Given the description of an element on the screen output the (x, y) to click on. 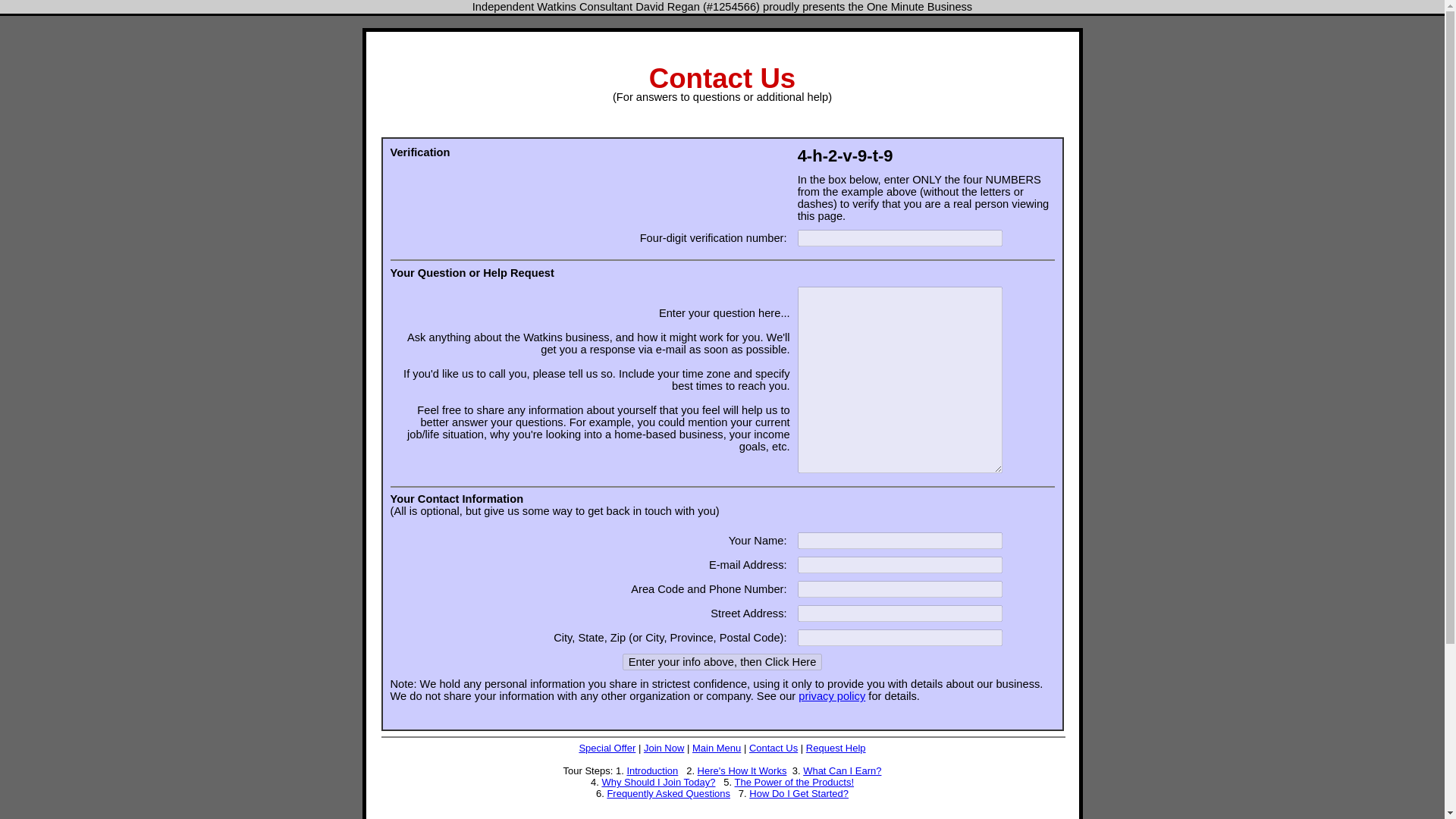
Frequently Asked Questions (668, 793)
How Do I Get Started? (798, 793)
Enter your info above, then Click Here (722, 661)
Main Menu (717, 747)
Contact Us (773, 747)
What Can I Earn? (841, 770)
Special Offer (606, 747)
The Power of the Products! (794, 781)
Request Help (836, 747)
Introduction (652, 770)
Here's How It Works (742, 770)
Join Now (663, 747)
Why Should I Join Today? (657, 781)
privacy policy (830, 695)
